Given the description of an element on the screen output the (x, y) to click on. 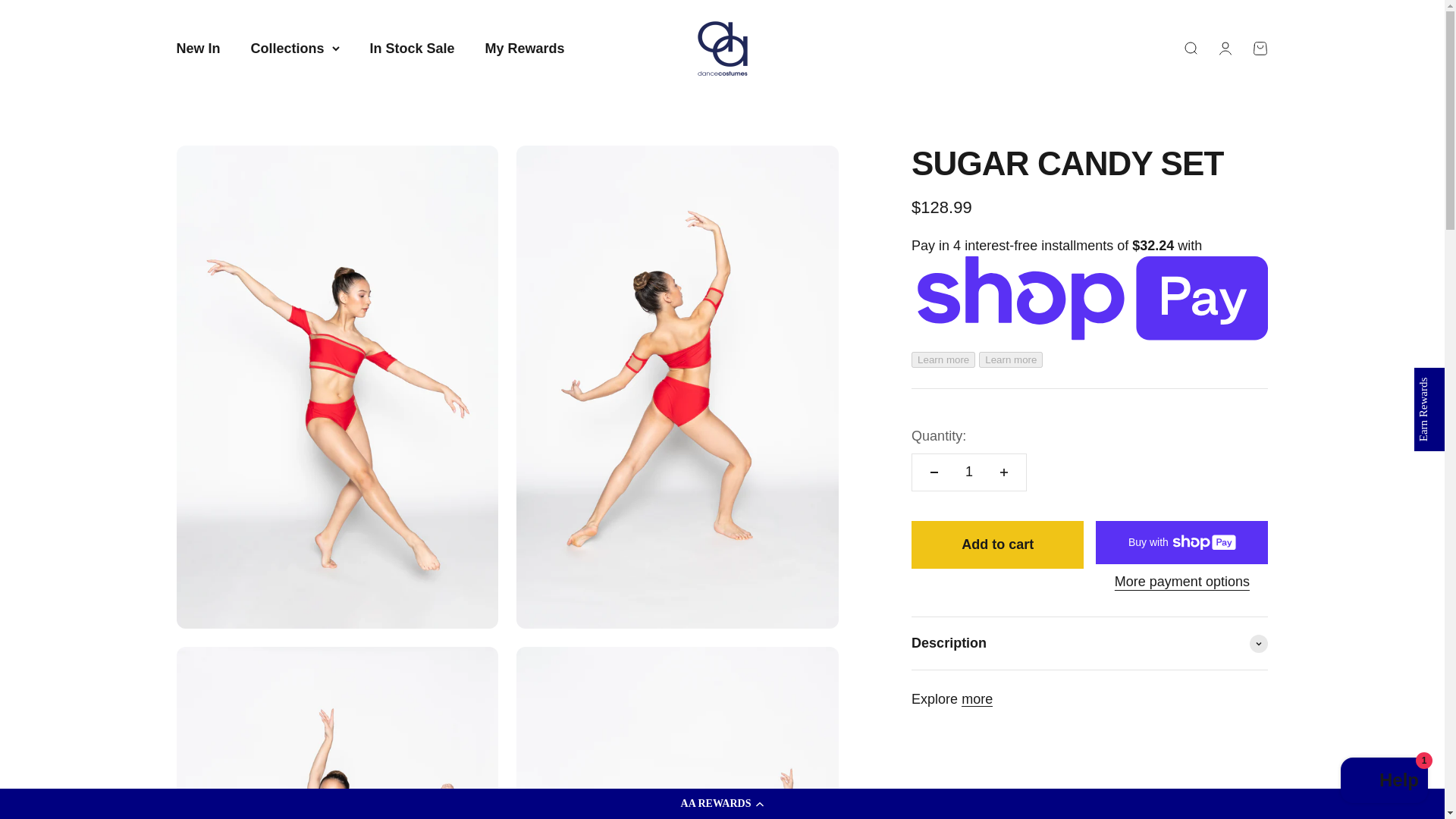
My Rewards (1259, 48)
Open account page (524, 48)
All collections (1224, 48)
New In (976, 698)
AA DANCE COSTUMES (197, 48)
Shopify online store chat (721, 48)
In Stock Sale (1384, 781)
Open search (411, 48)
